Given the description of an element on the screen output the (x, y) to click on. 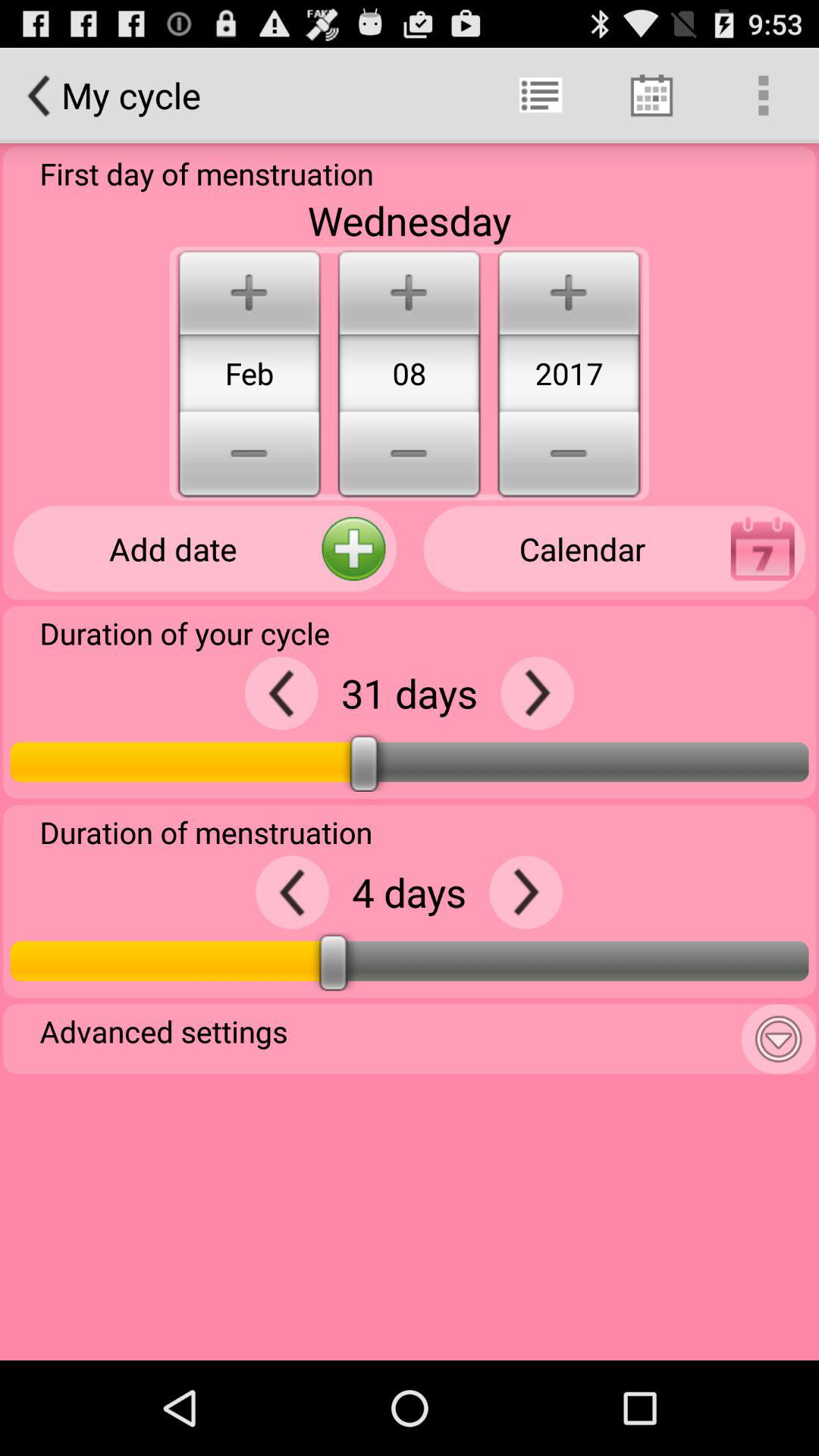
show advanced settings (778, 1039)
